Given the description of an element on the screen output the (x, y) to click on. 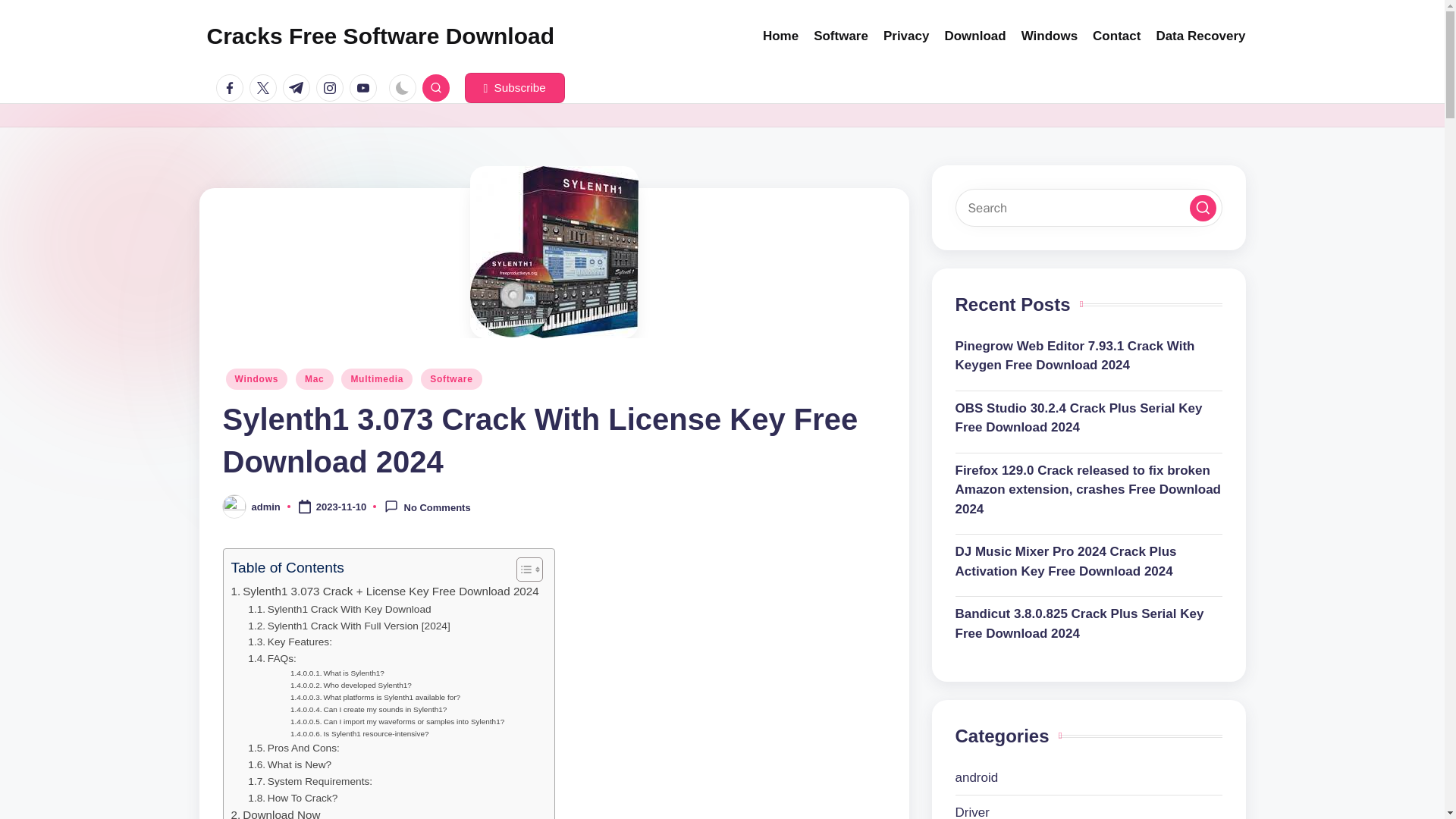
No Comments (427, 506)
What is New? (289, 764)
FAQs: (272, 658)
Can I create my sounds in Sylenth1? (367, 709)
Mac (314, 378)
admin (266, 506)
Key Features: (289, 641)
youtube.com (365, 87)
Multimedia (376, 378)
instagram.com (332, 87)
